Given the description of an element on the screen output the (x, y) to click on. 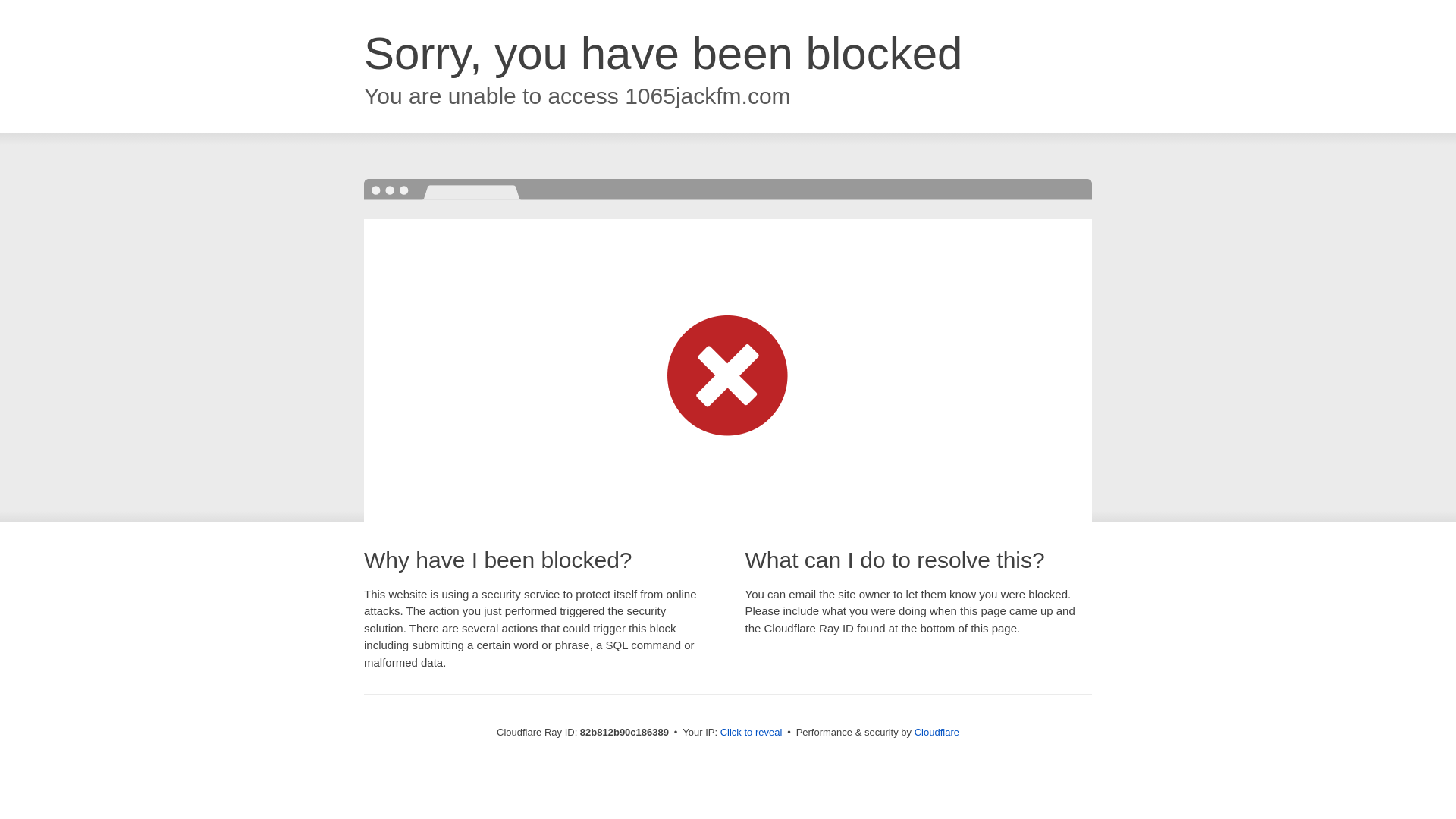
Click to reveal Element type: text (751, 732)
Cloudflare Element type: text (936, 731)
